Given the description of an element on the screen output the (x, y) to click on. 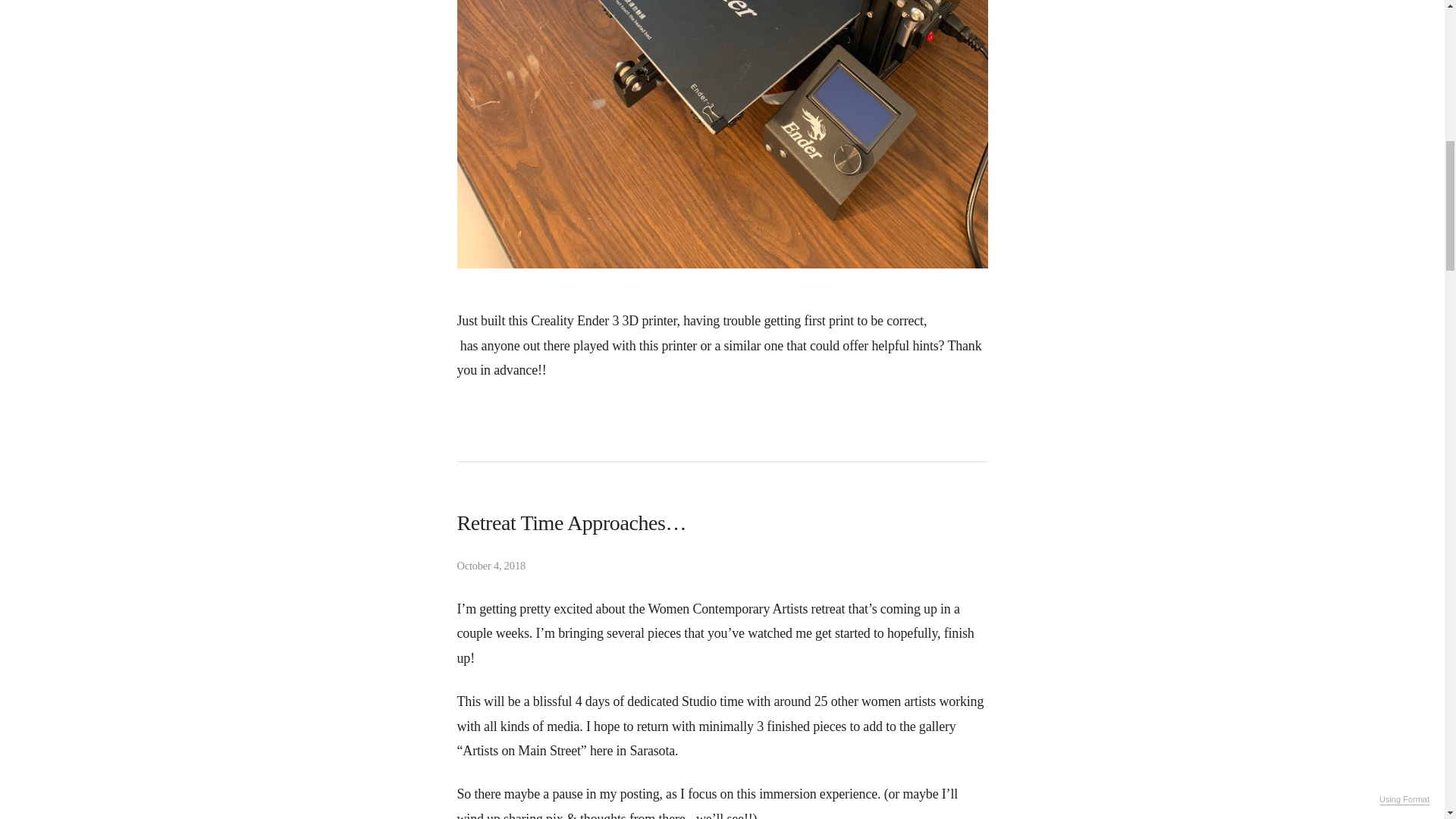
October 4, 2018 (722, 564)
